Given the description of an element on the screen output the (x, y) to click on. 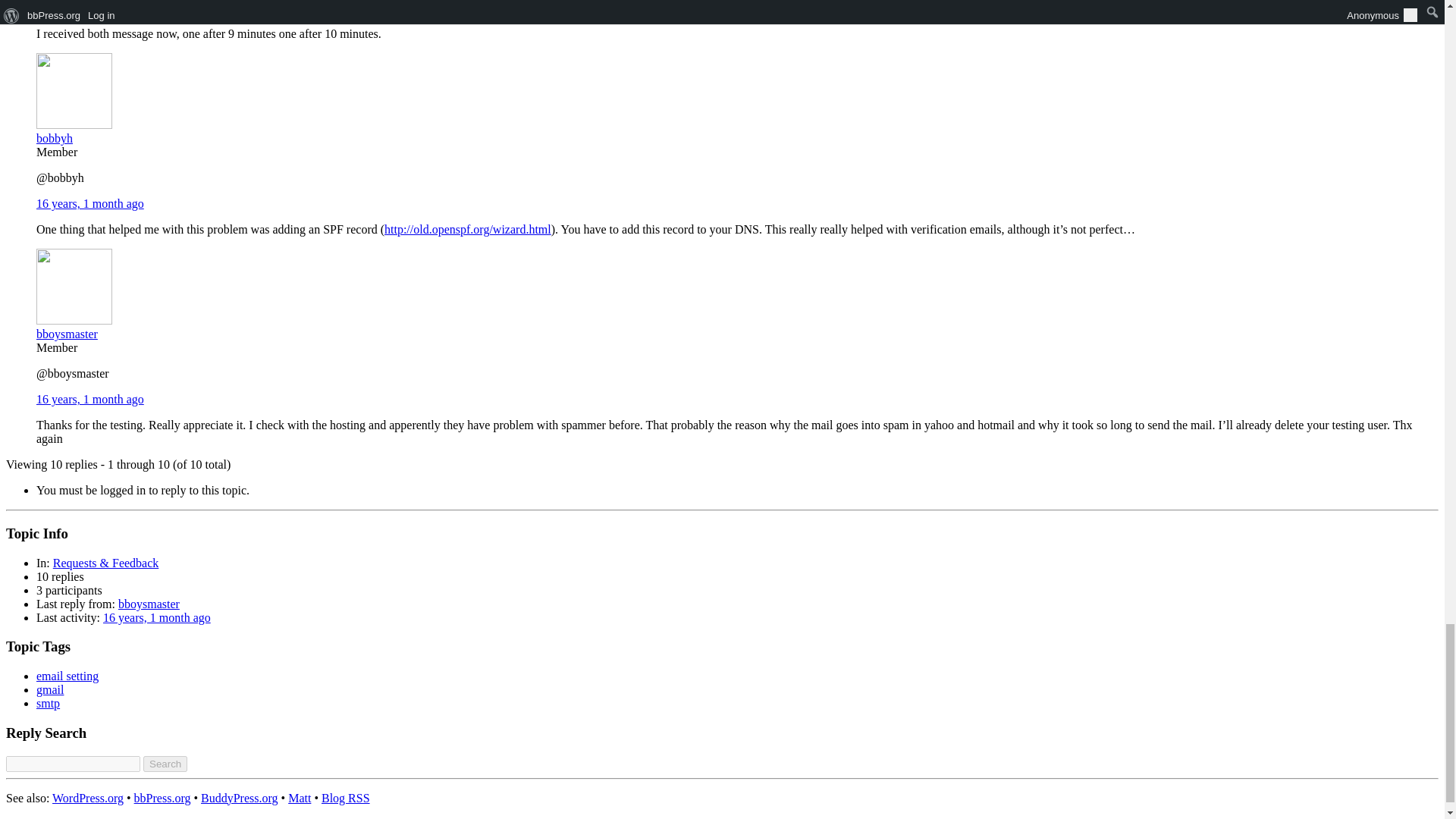
Search (164, 763)
16 years, 1 month ago (90, 399)
bobbyh (74, 130)
16 years, 1 month ago (90, 7)
bboysmaster (74, 326)
16 years, 1 month ago (90, 203)
